Given the description of an element on the screen output the (x, y) to click on. 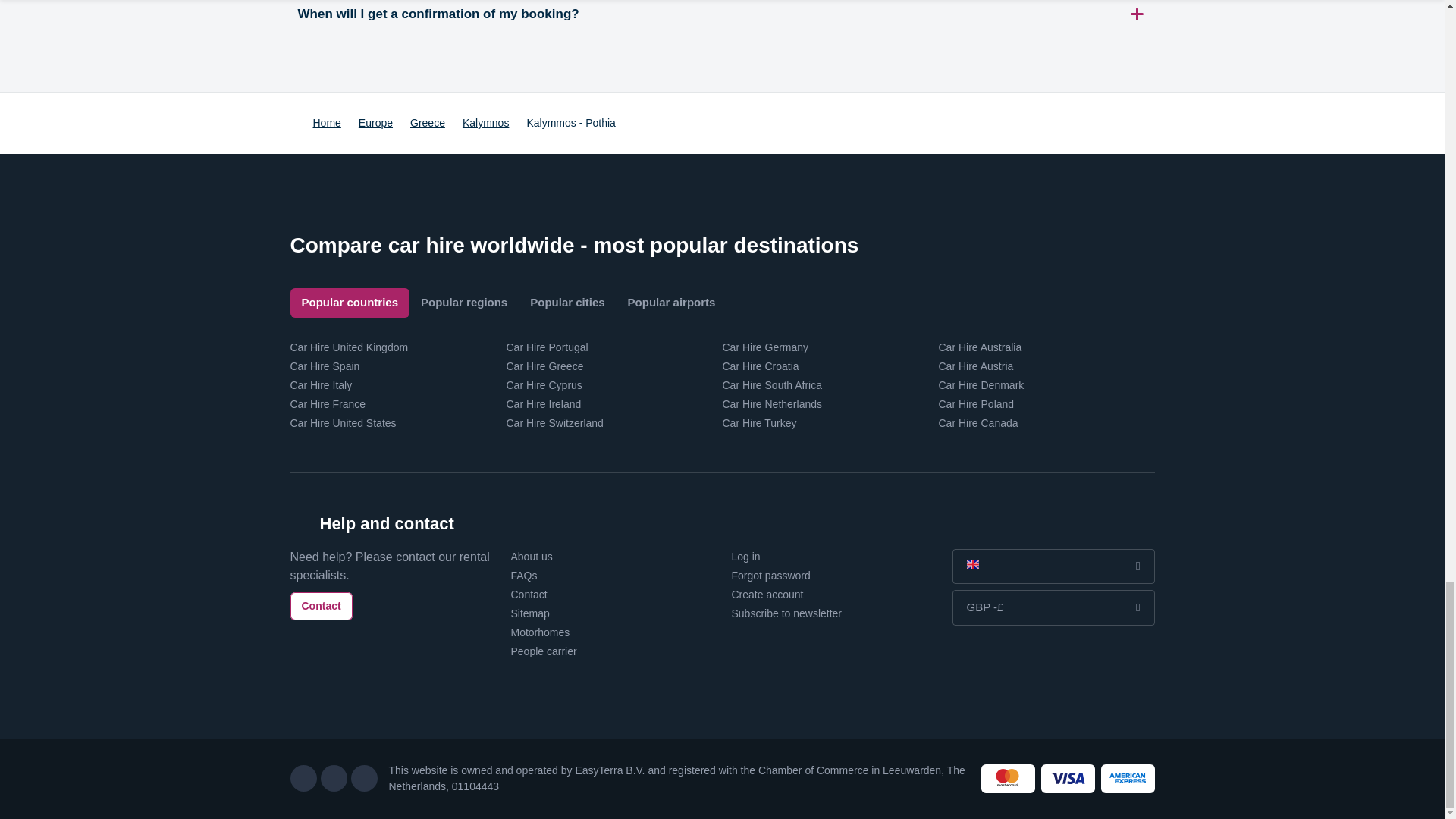
Car Hire France (327, 403)
Car Hire Italy (320, 385)
Car Hire Switzerland (555, 422)
Car Hire United Kingdom (348, 346)
Europe (375, 123)
Car Hire Greece (544, 365)
Car Hire Portugal (547, 346)
Car Hire Croatia (759, 365)
Greece (427, 123)
Car Hire Germany (765, 346)
Car Hire Ireland (543, 403)
Car Hire Spain (324, 365)
Car Hire Cyprus (544, 385)
Car Hire United States (342, 422)
Home (326, 123)
